Given the description of an element on the screen output the (x, y) to click on. 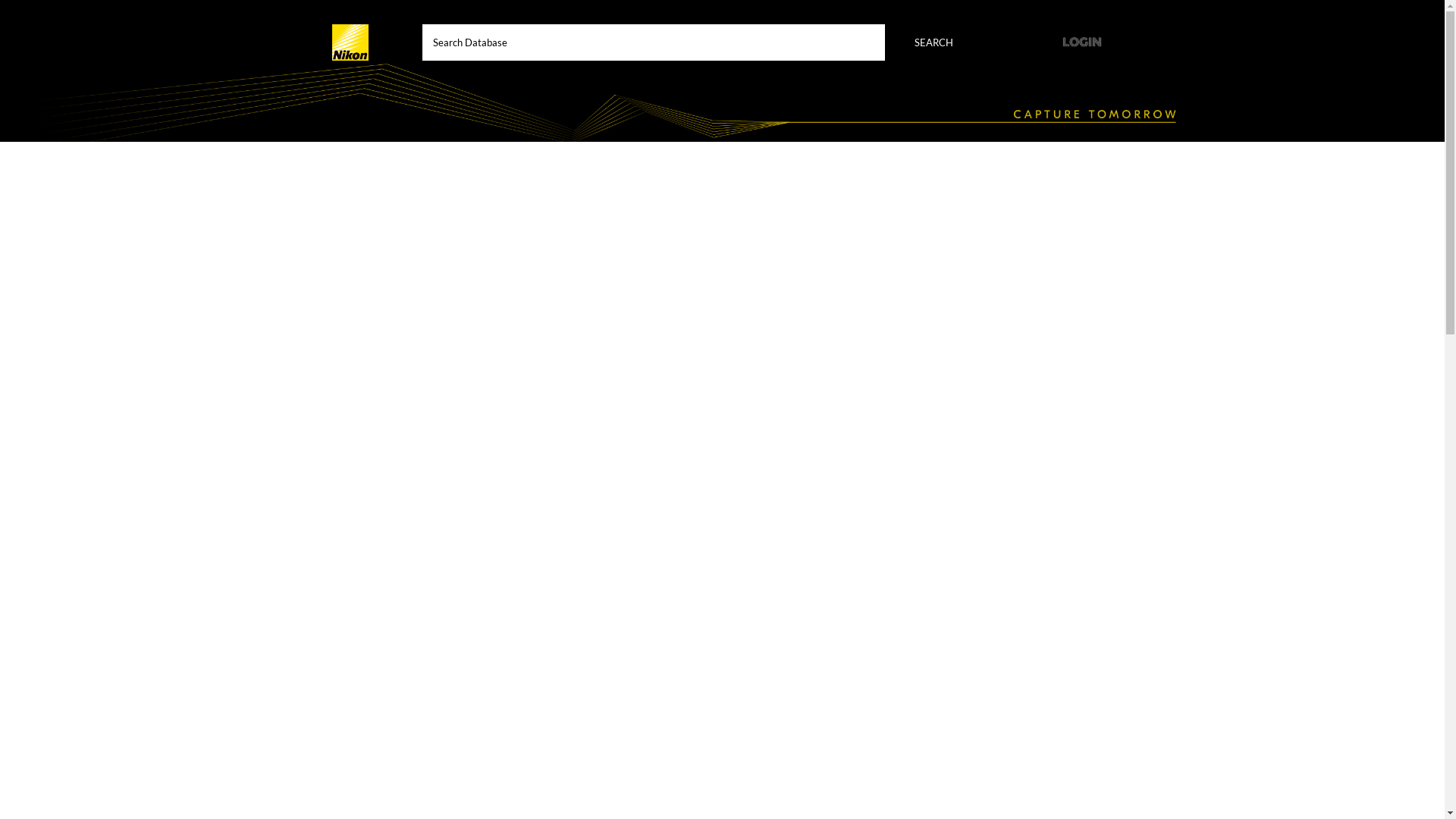
LOGIN Element type: text (1082, 42)
SEARCH Element type: text (933, 42)
Skip to Navigation Element type: text (9, 4)
Nikon Portal Element type: text (349, 42)
